Given the description of an element on the screen output the (x, y) to click on. 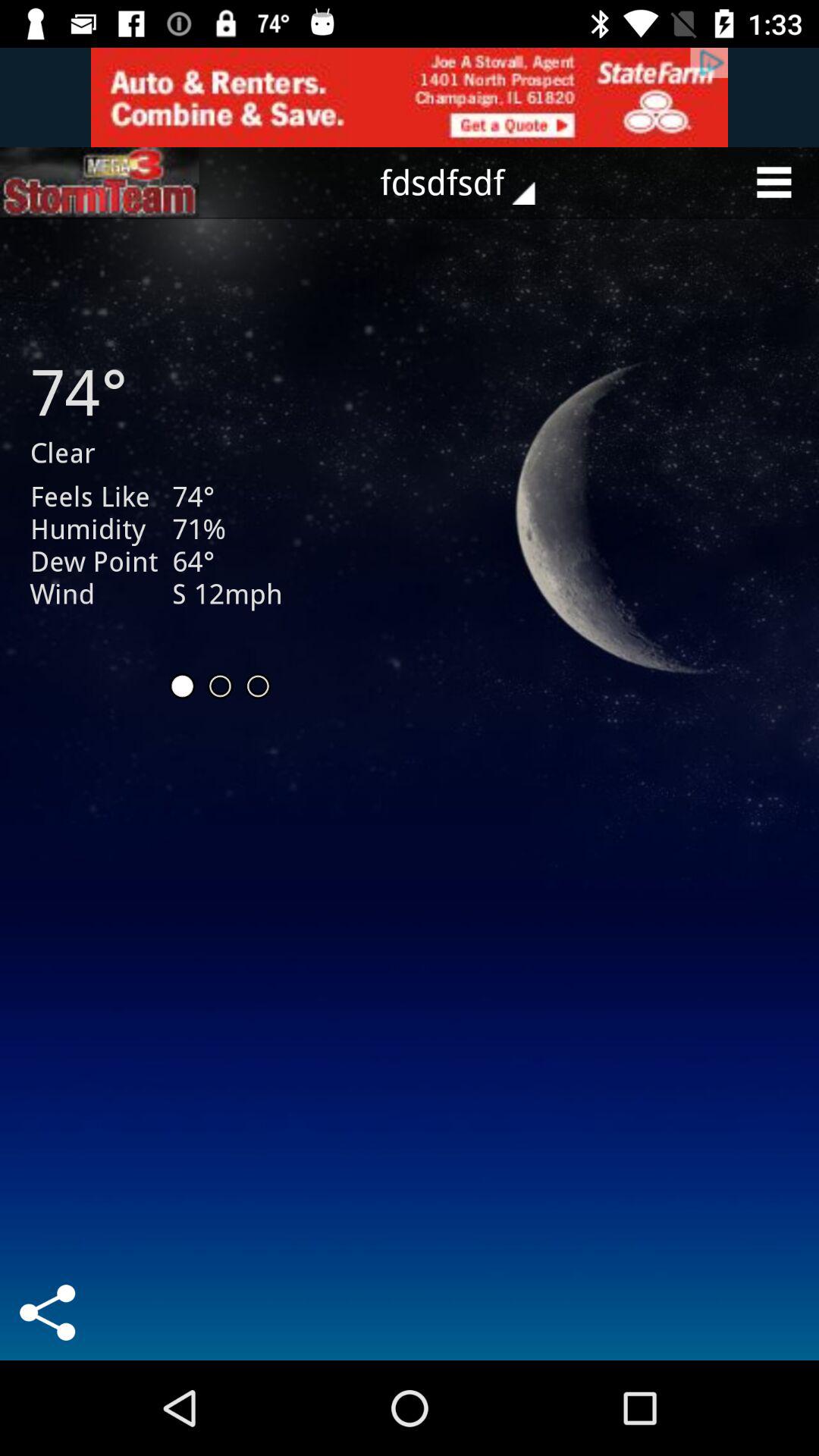
to view add (409, 97)
